Given the description of an element on the screen output the (x, y) to click on. 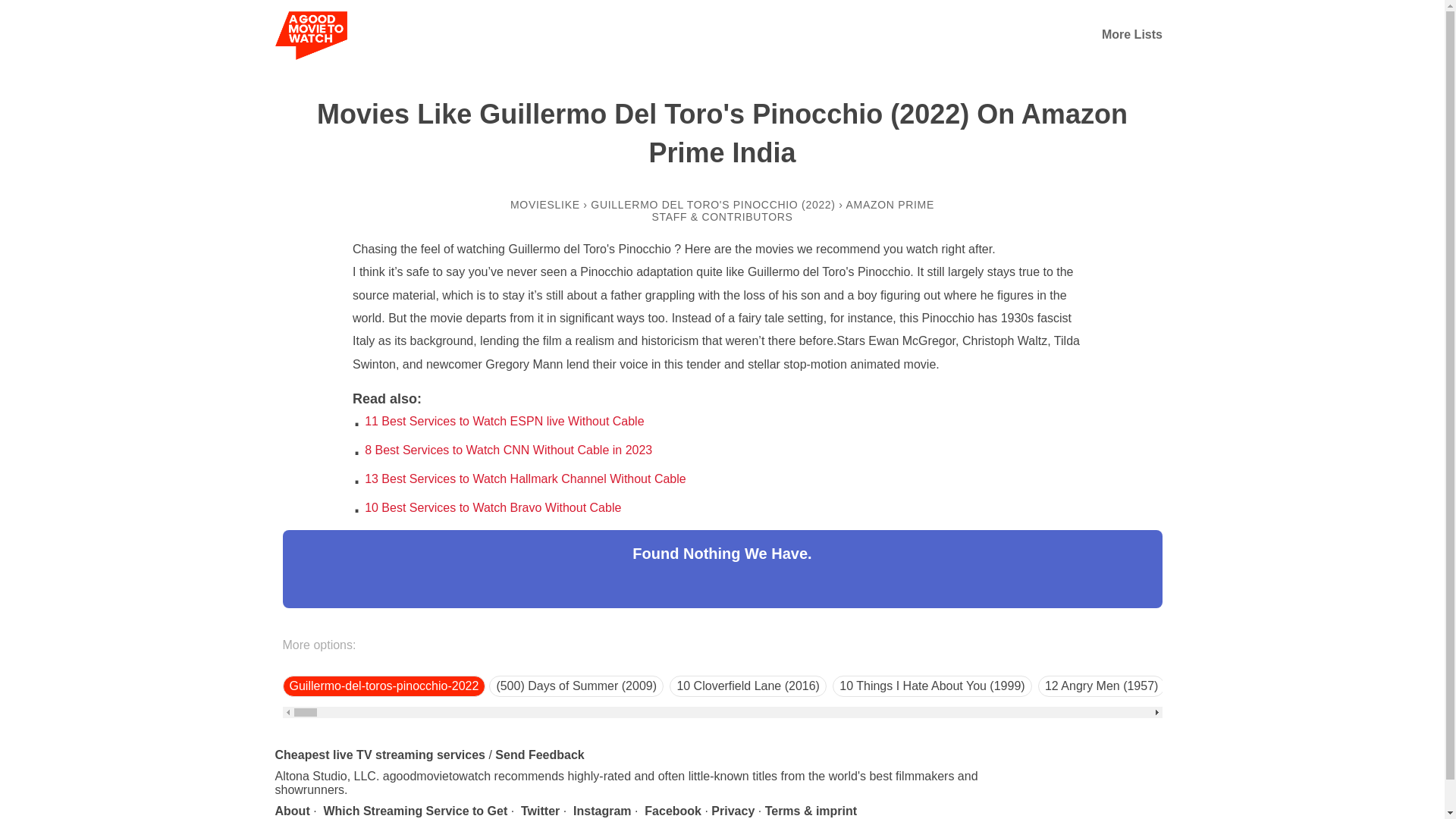
More Lists (1132, 34)
